Given the description of an element on the screen output the (x, y) to click on. 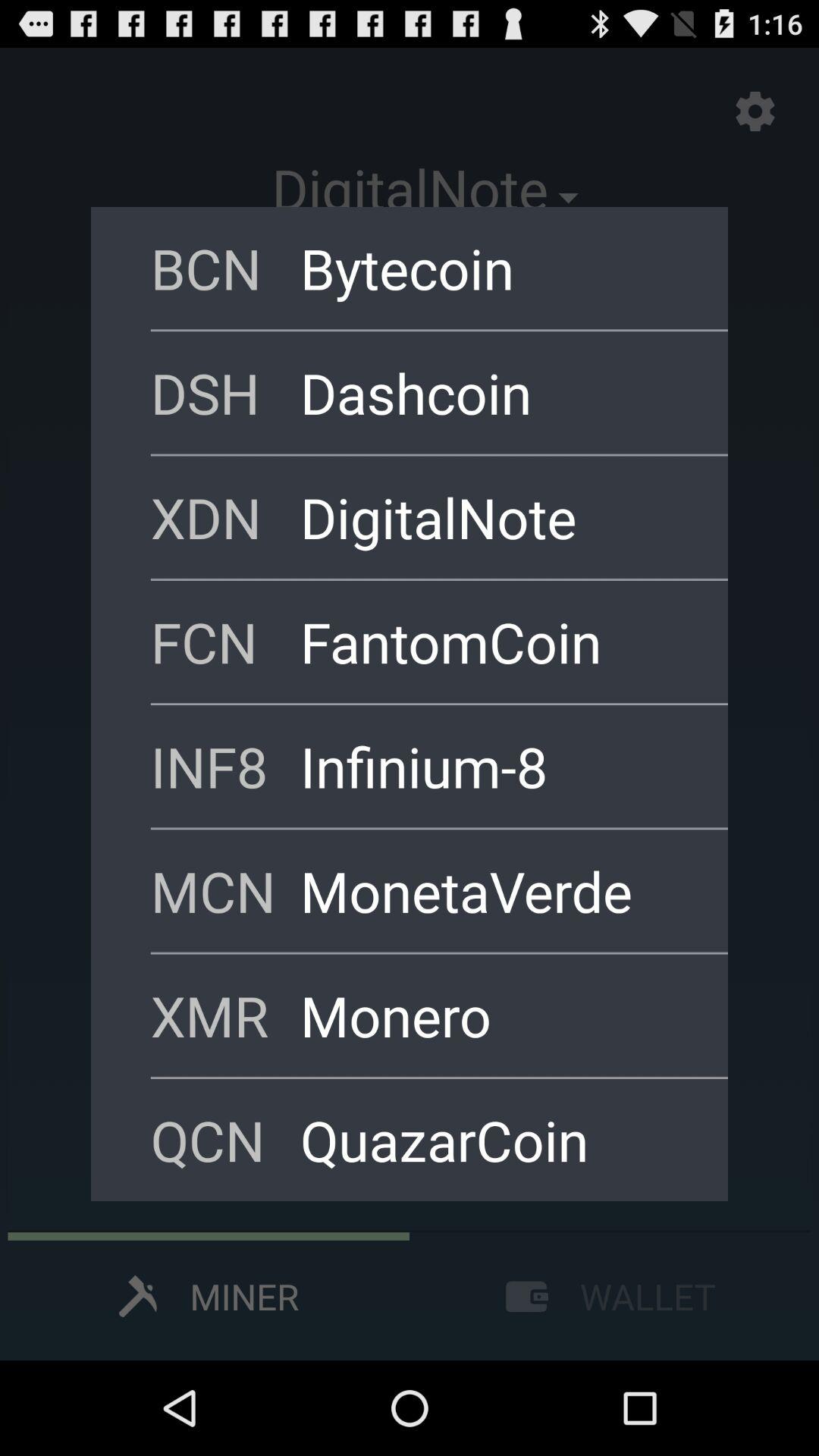
jump to the monero app (494, 1015)
